Given the description of an element on the screen output the (x, y) to click on. 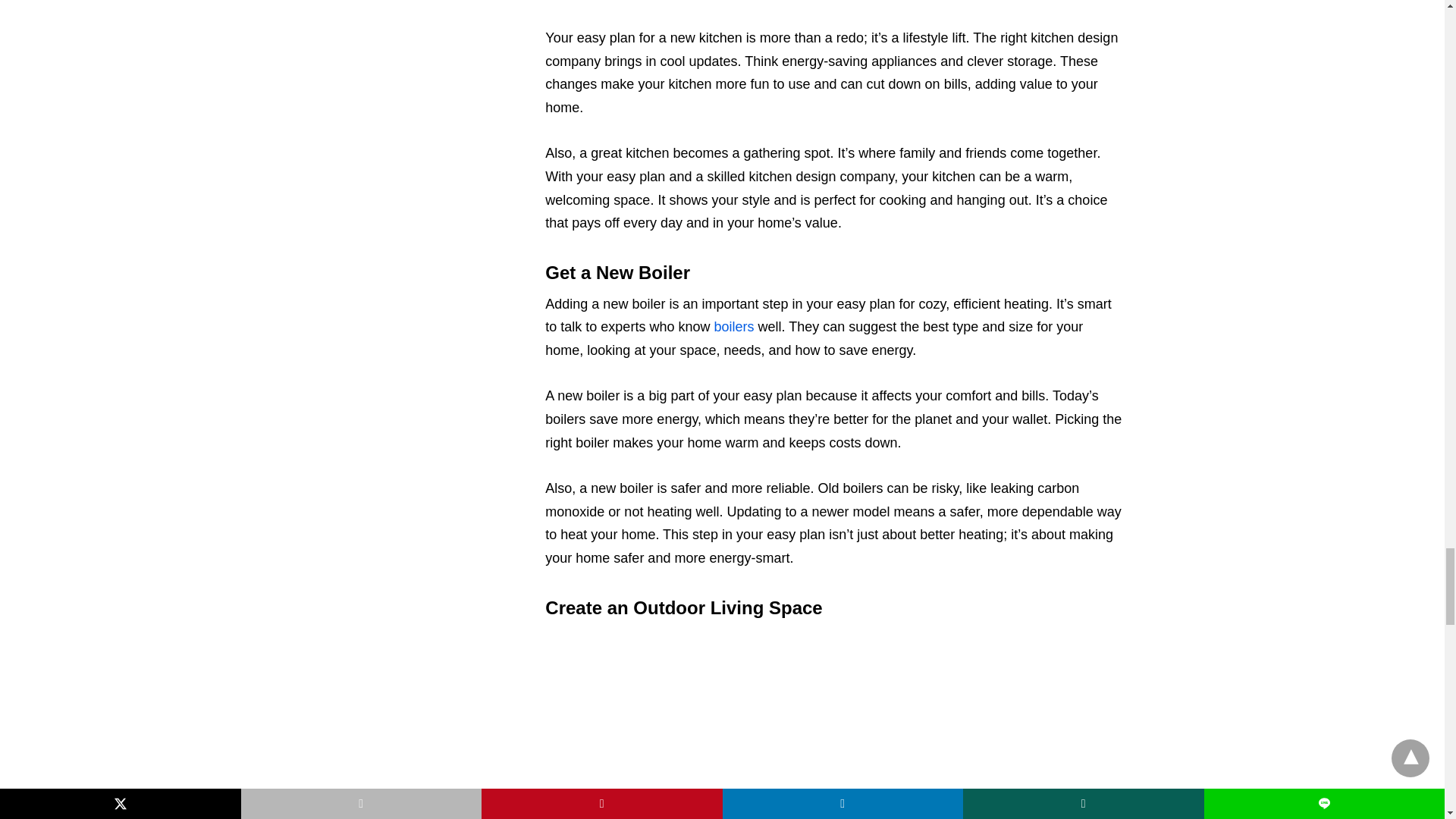
boilers (733, 326)
